Given the description of an element on the screen output the (x, y) to click on. 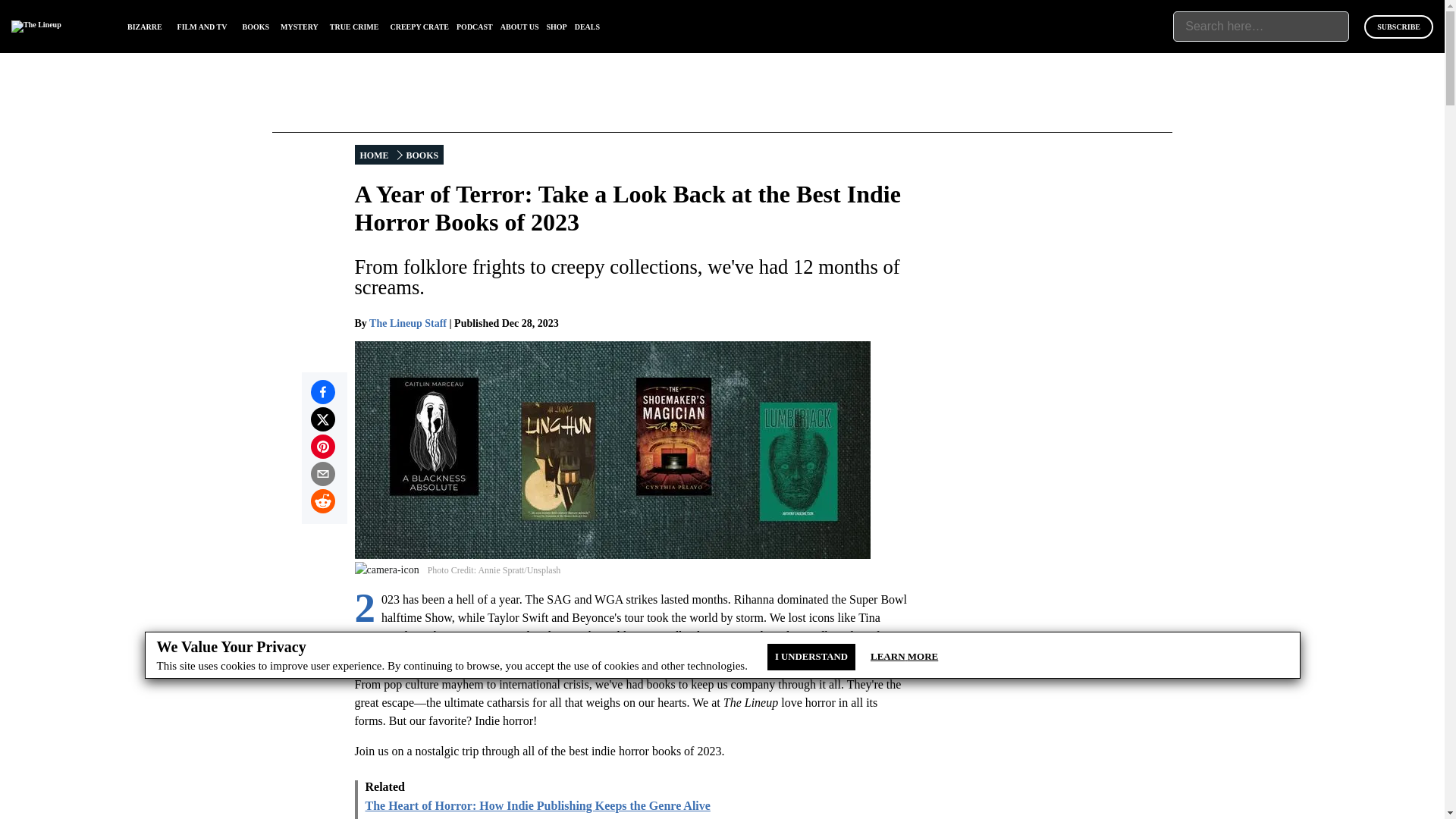
The Lineup Staff (407, 323)
CREEPY CRATE (419, 26)
PODCAST (475, 26)
BOOKS (256, 26)
TRUE CRIME (354, 26)
SHOP (556, 26)
BIZARRE (144, 26)
DEALS (587, 26)
MYSTERY (299, 26)
The Lineup (36, 26)
